Given the description of an element on the screen output the (x, y) to click on. 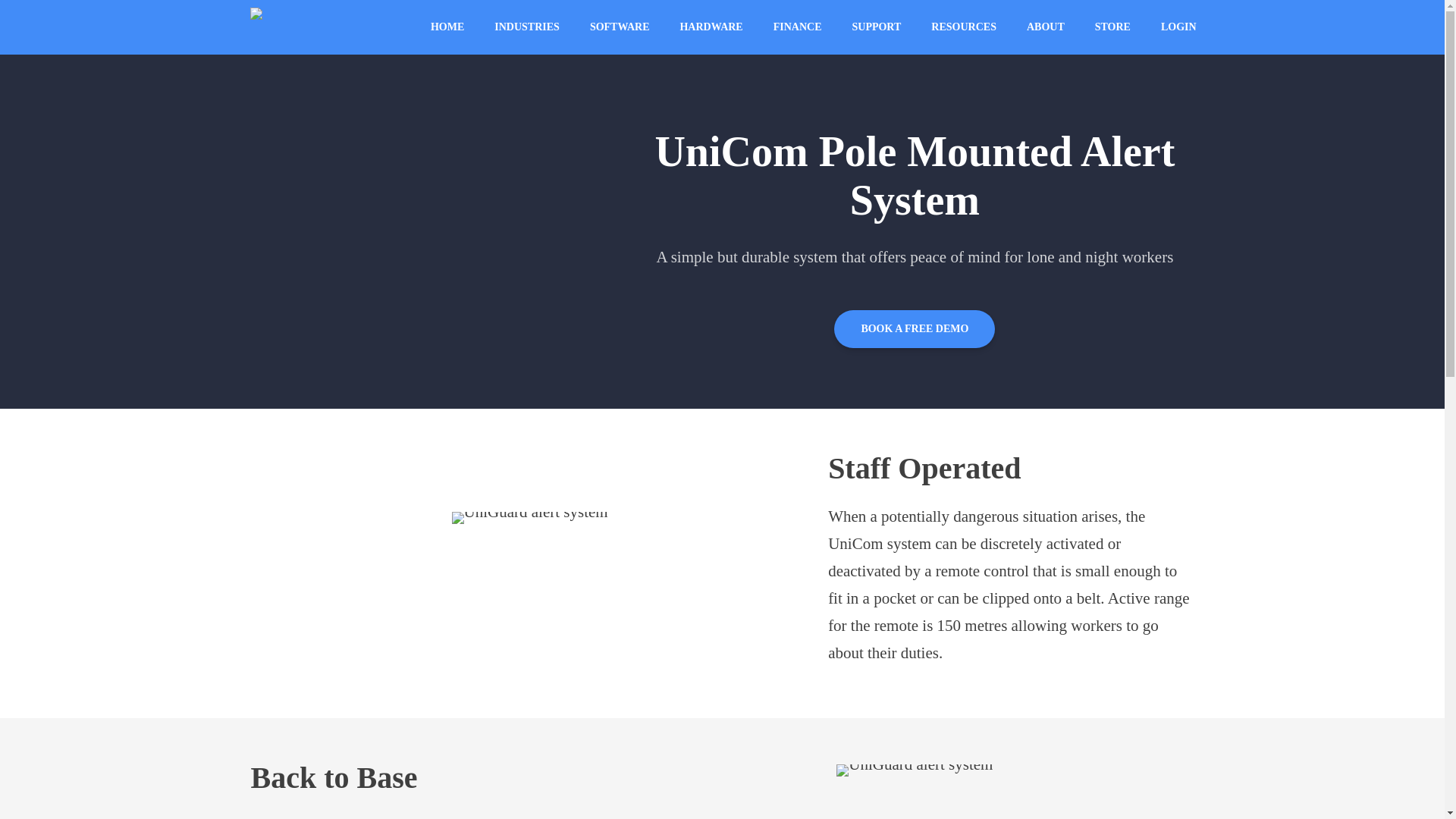
HARDWARE (710, 27)
INDUSTRIES (527, 27)
HOME (446, 27)
SOFTWARE (620, 27)
